Given the description of an element on the screen output the (x, y) to click on. 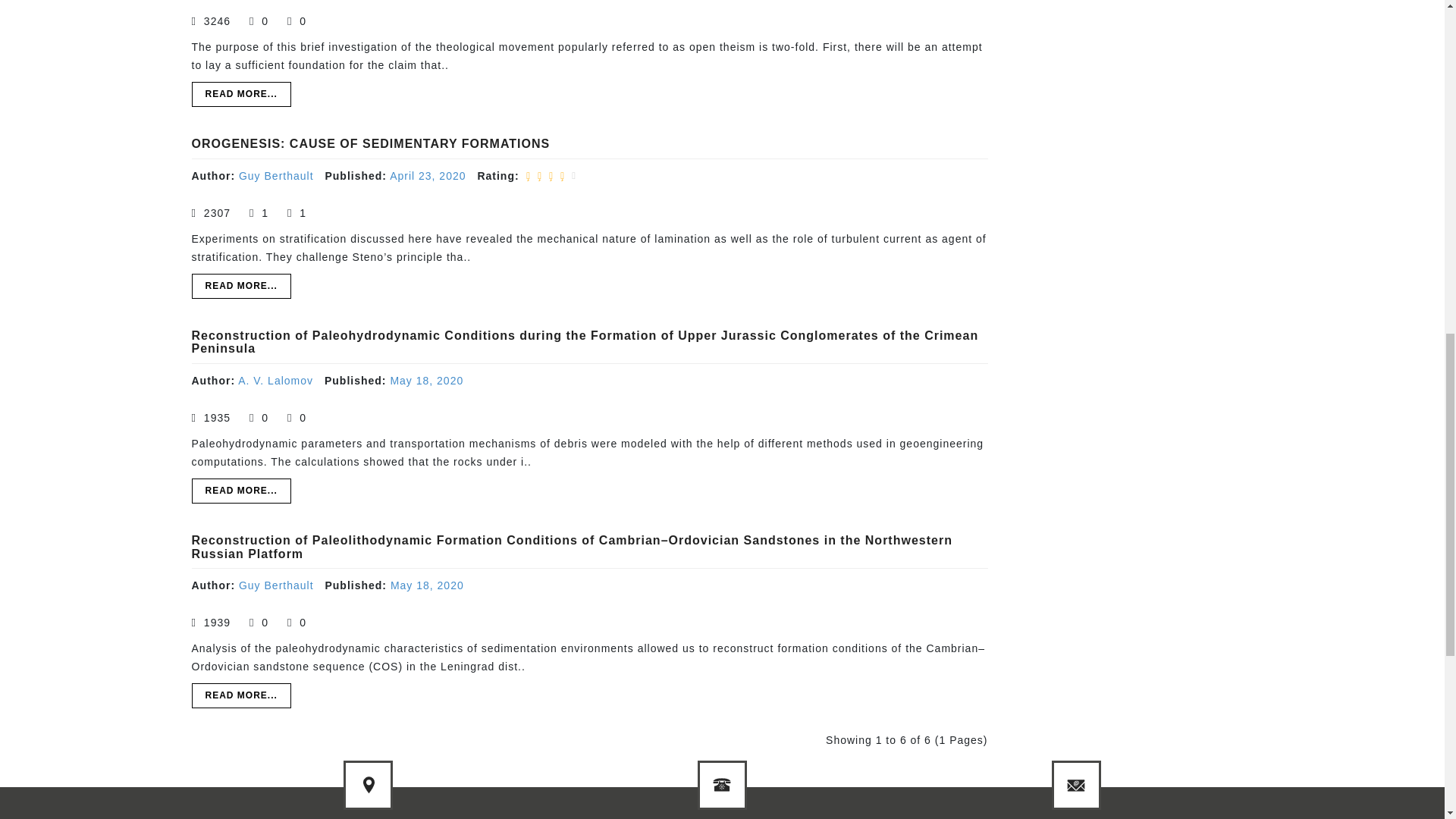
READ MORE... (239, 94)
April 23, 2020 (427, 175)
Guy Berthault (276, 175)
OROGENESIS: CAUSE OF SEDIMENTARY FORMATIONS (370, 143)
